Given the description of an element on the screen output the (x, y) to click on. 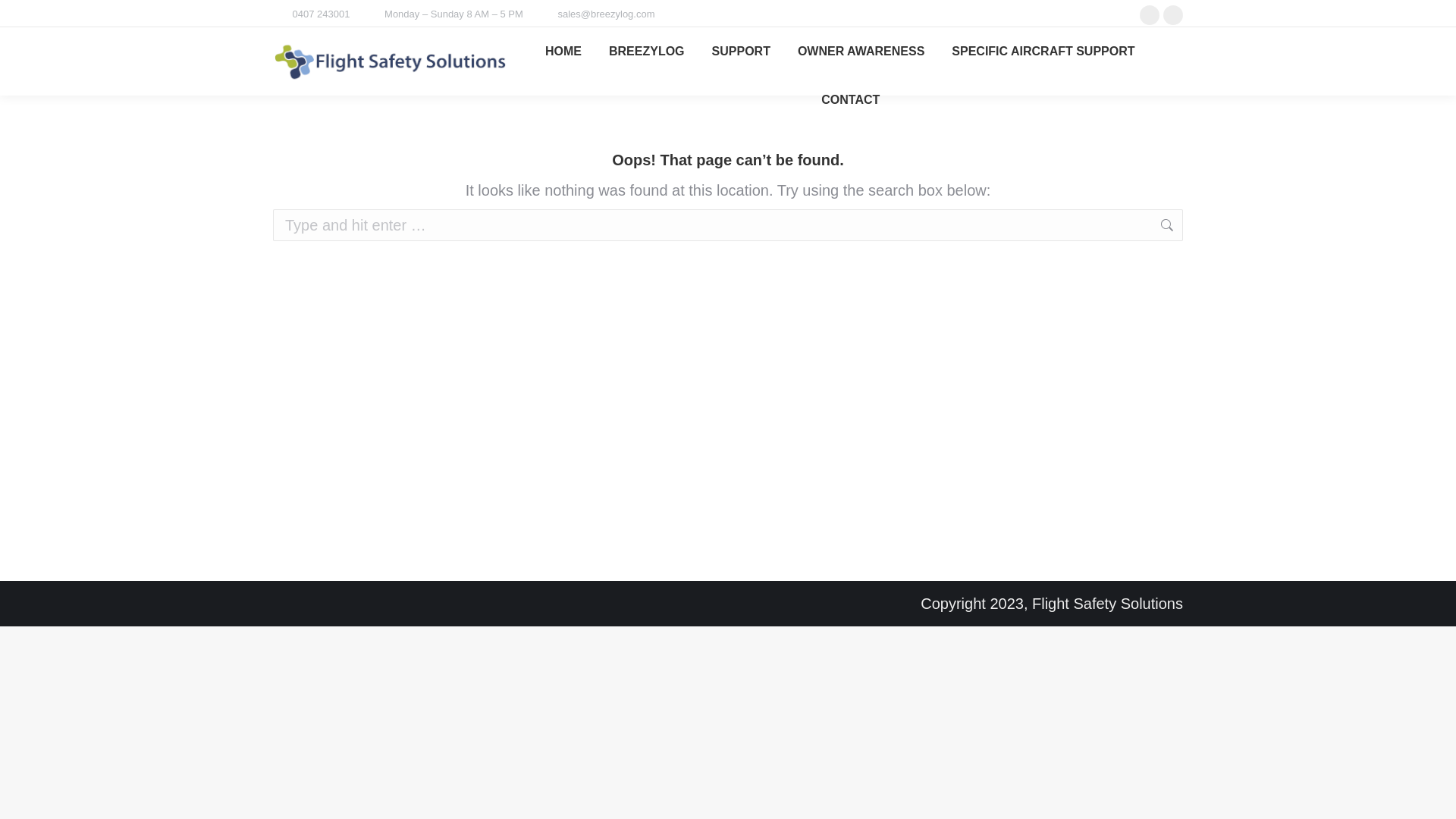
SUPPORT Element type: text (741, 51)
SPECIFIC AIRCRAFT SUPPORT Element type: text (1042, 51)
Facebook page opens in new window Element type: text (1149, 14)
Go! Element type: text (24, 15)
Facebook page opens in new window Element type: text (1173, 14)
Go! Element type: text (1207, 225)
CONTACT Element type: text (850, 99)
HOME Element type: text (563, 51)
BREEZYLOG Element type: text (646, 51)
OWNER AWARENESS Element type: text (860, 51)
